Given the description of an element on the screen output the (x, y) to click on. 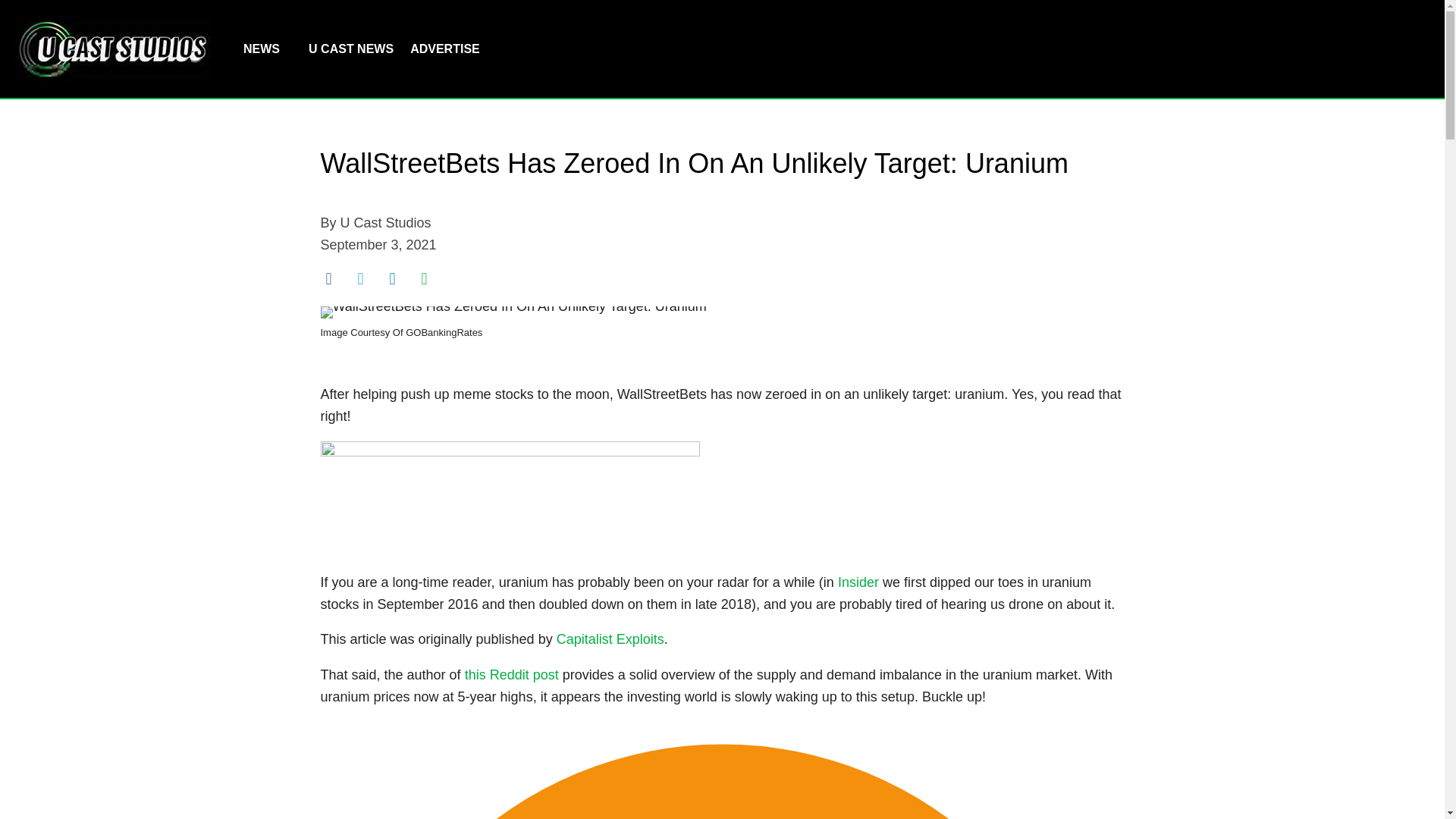
this Reddit post (511, 674)
U CAST NEWS (350, 48)
Insider (858, 581)
U Cast Studios (385, 222)
ADVERTISE (444, 48)
WallStreetBets Has Zeroed In On An Unlikely Target: Uranium (513, 312)
Capitalist Exploits (609, 639)
